Given the description of an element on the screen output the (x, y) to click on. 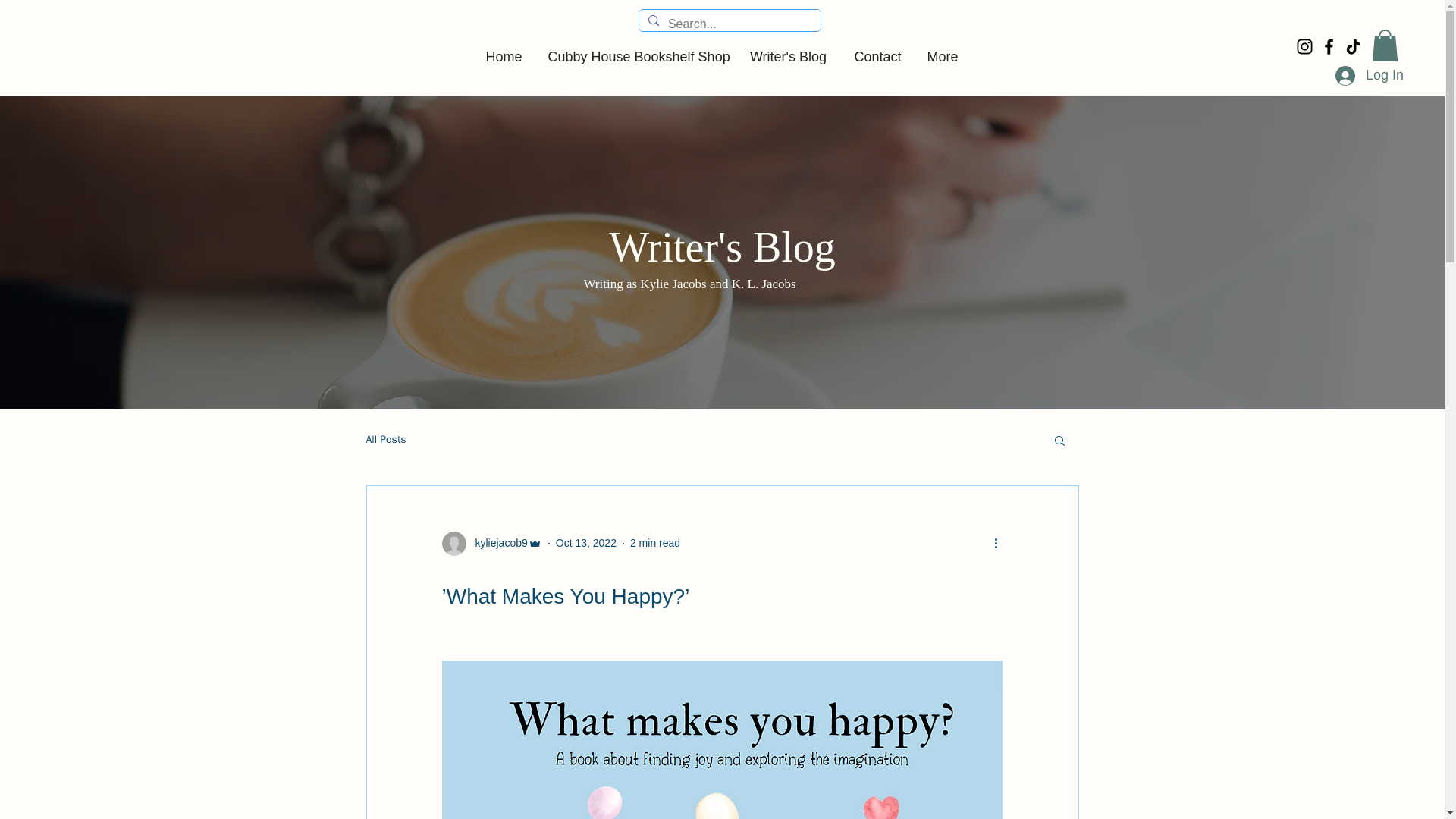
kyliejacob9 (496, 543)
2 min read (654, 542)
Contact (876, 50)
kyliejacob9 (491, 543)
Home (502, 50)
Cubby House Bookshelf Shop (634, 50)
Log In (1361, 75)
Oct 13, 2022 (585, 542)
All Posts (385, 439)
Writer's Blog (787, 50)
